Given the description of an element on the screen output the (x, y) to click on. 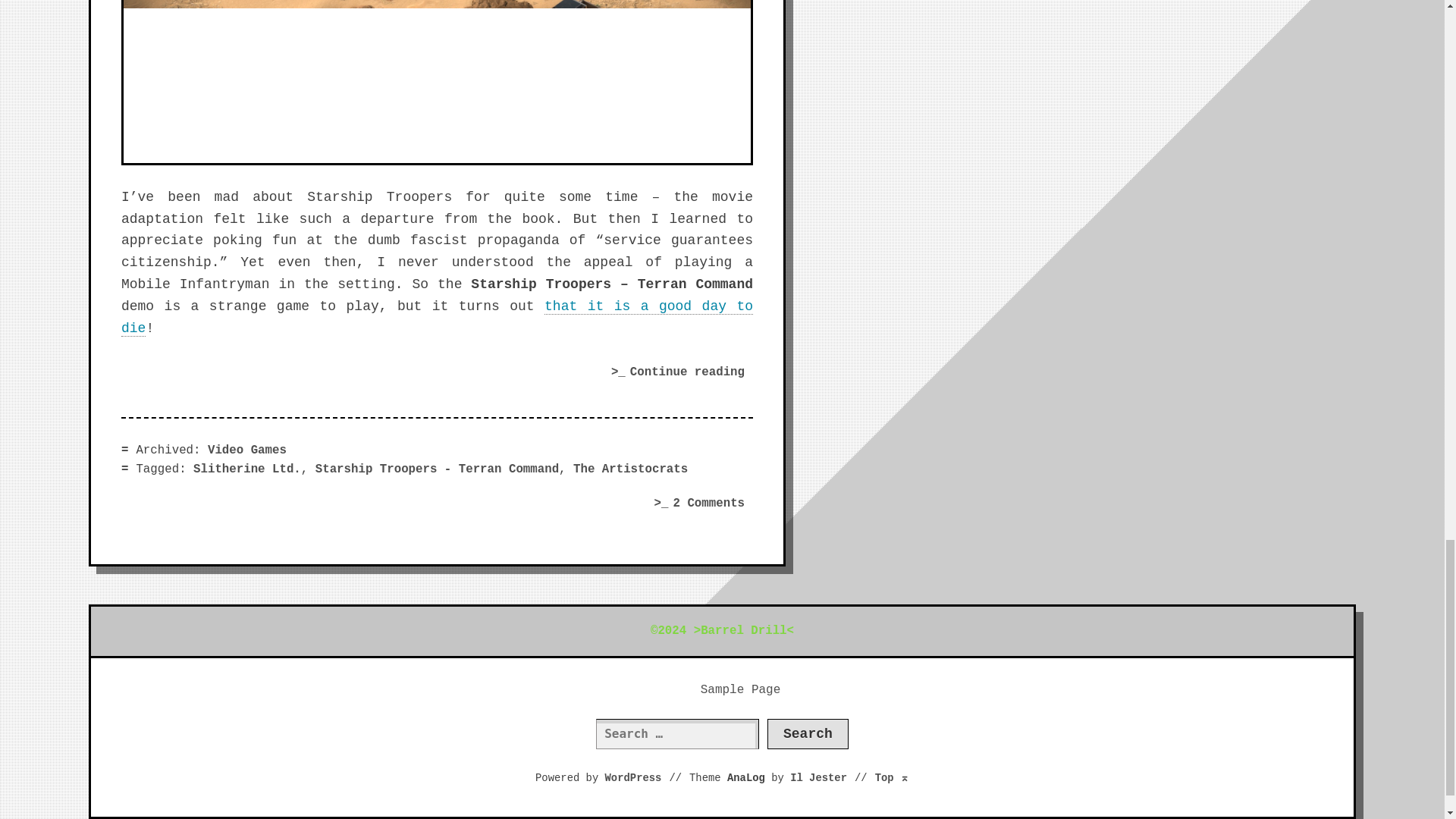
Sample Page (740, 689)
WordPress (633, 777)
Search (807, 734)
Search (807, 734)
Search (807, 734)
Starship Troopers - Terran Command (437, 468)
that it is a good day to die (436, 317)
Video Games (247, 450)
The Artistocrats (630, 468)
Slitherine Ltd. (247, 468)
